Given the description of an element on the screen output the (x, y) to click on. 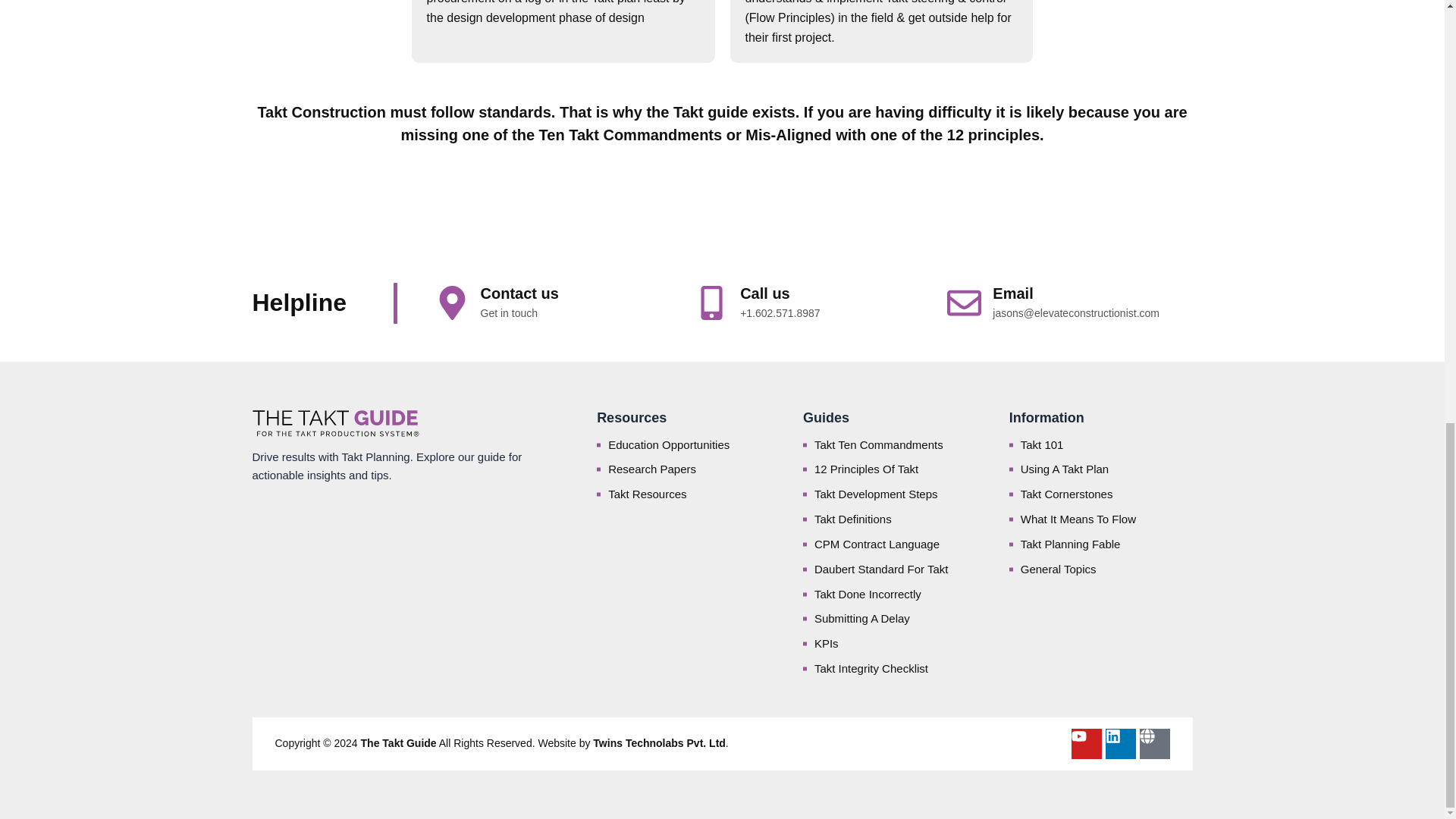
Daubert Standard For Takt (895, 568)
Get in touch (509, 313)
Research Papers (688, 468)
Education Opportunities (688, 444)
Takt Definitions (895, 518)
CPM Contract Language (895, 544)
Takt Resources (688, 494)
Takt Development Steps (895, 494)
12 Principles Of Takt (895, 468)
Takt Ten Commandments (895, 444)
